Given the description of an element on the screen output the (x, y) to click on. 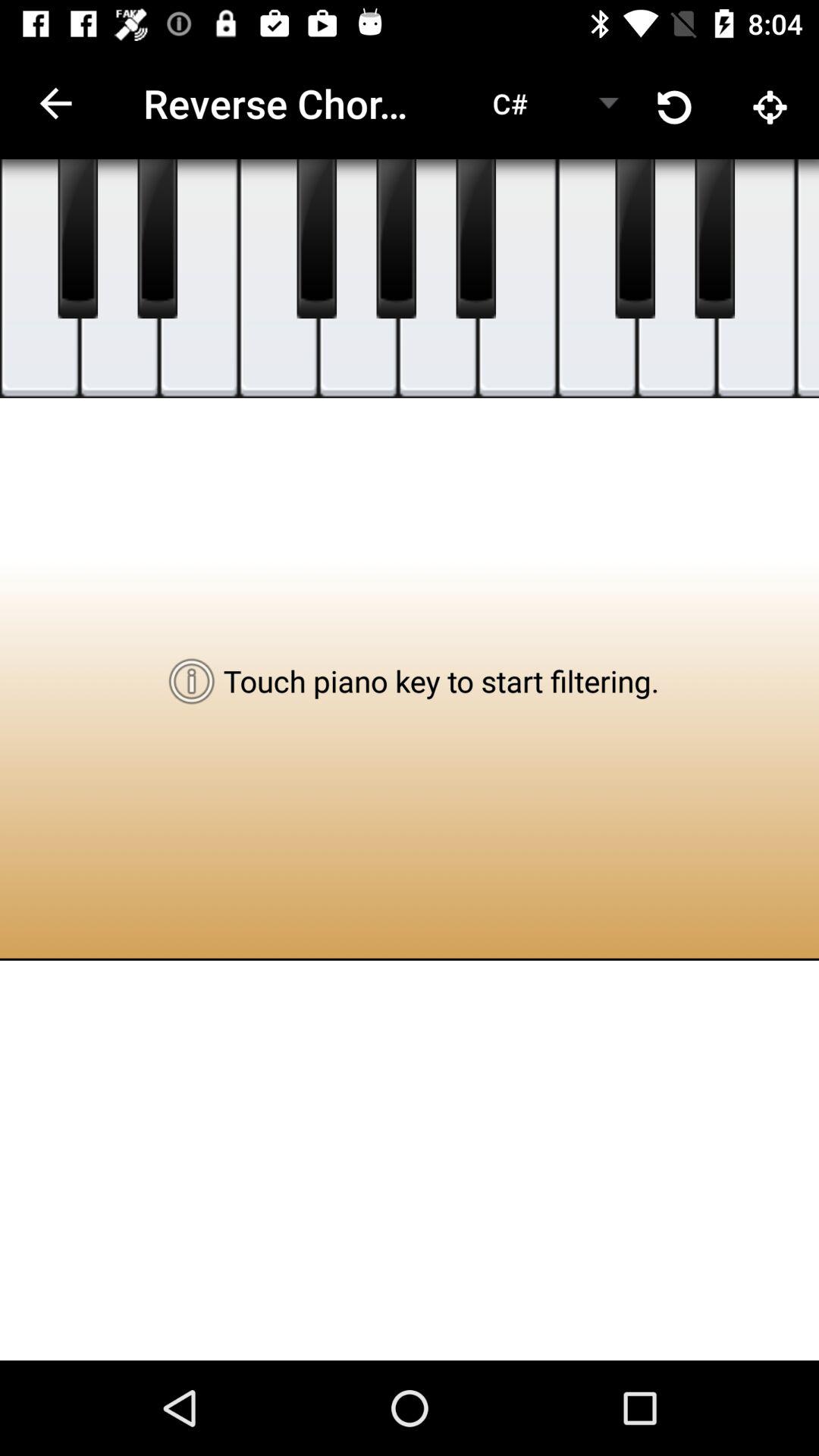
touch to play (437, 278)
